Given the description of an element on the screen output the (x, y) to click on. 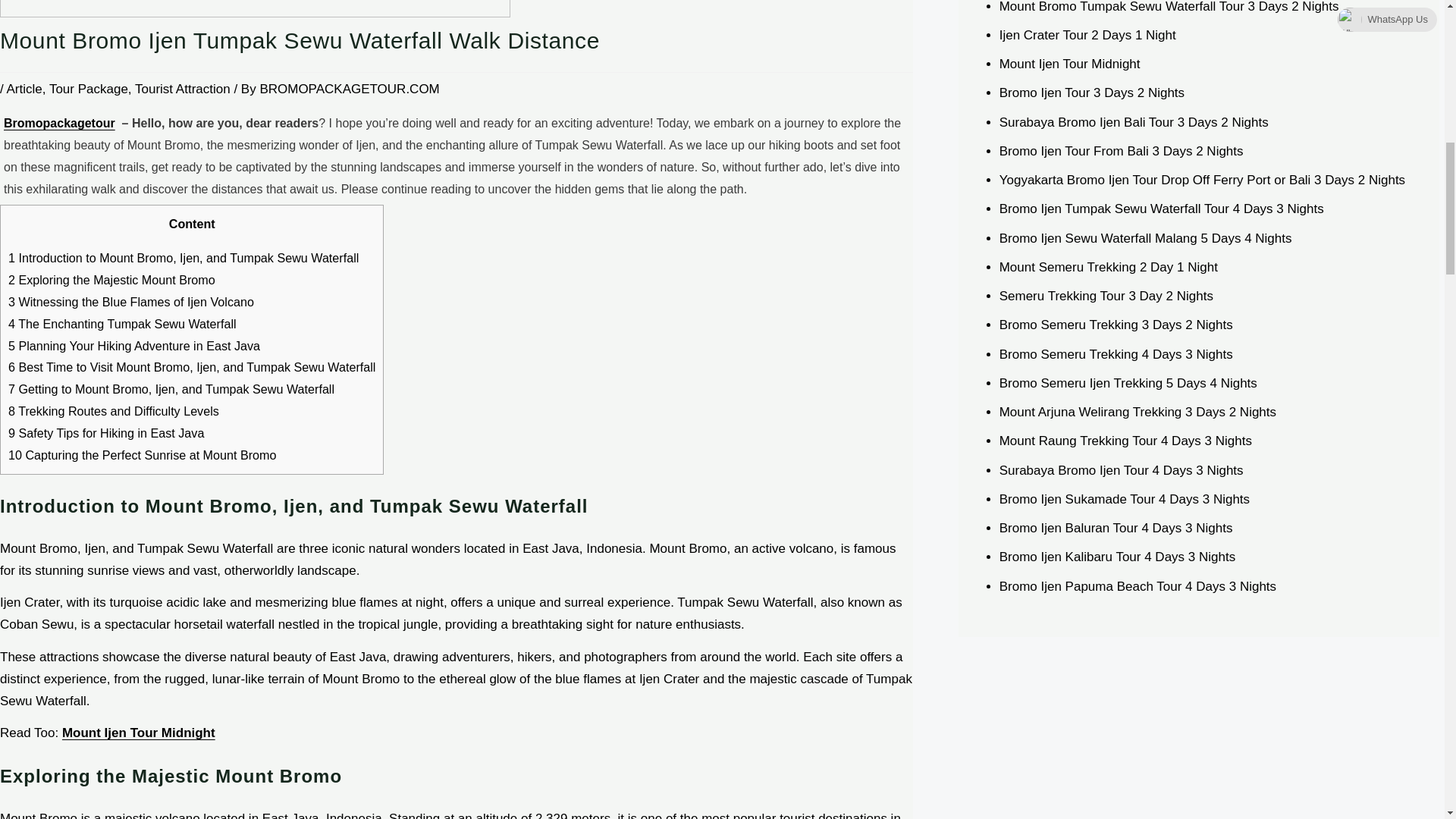
5 Planning Your Hiking Adventure in East Java (134, 345)
Mount Ijen Tour Midnight (138, 732)
4 The Enchanting Tumpak Sewu Waterfall (121, 323)
Tourist Attraction (182, 88)
View all posts by BROMOPACKAGETOUR.COM (349, 88)
Article (24, 88)
3 Witnessing the Blue Flames of Ijen Volcano (130, 301)
9 Safety Tips for Hiking in East Java (105, 432)
